Given the description of an element on the screen output the (x, y) to click on. 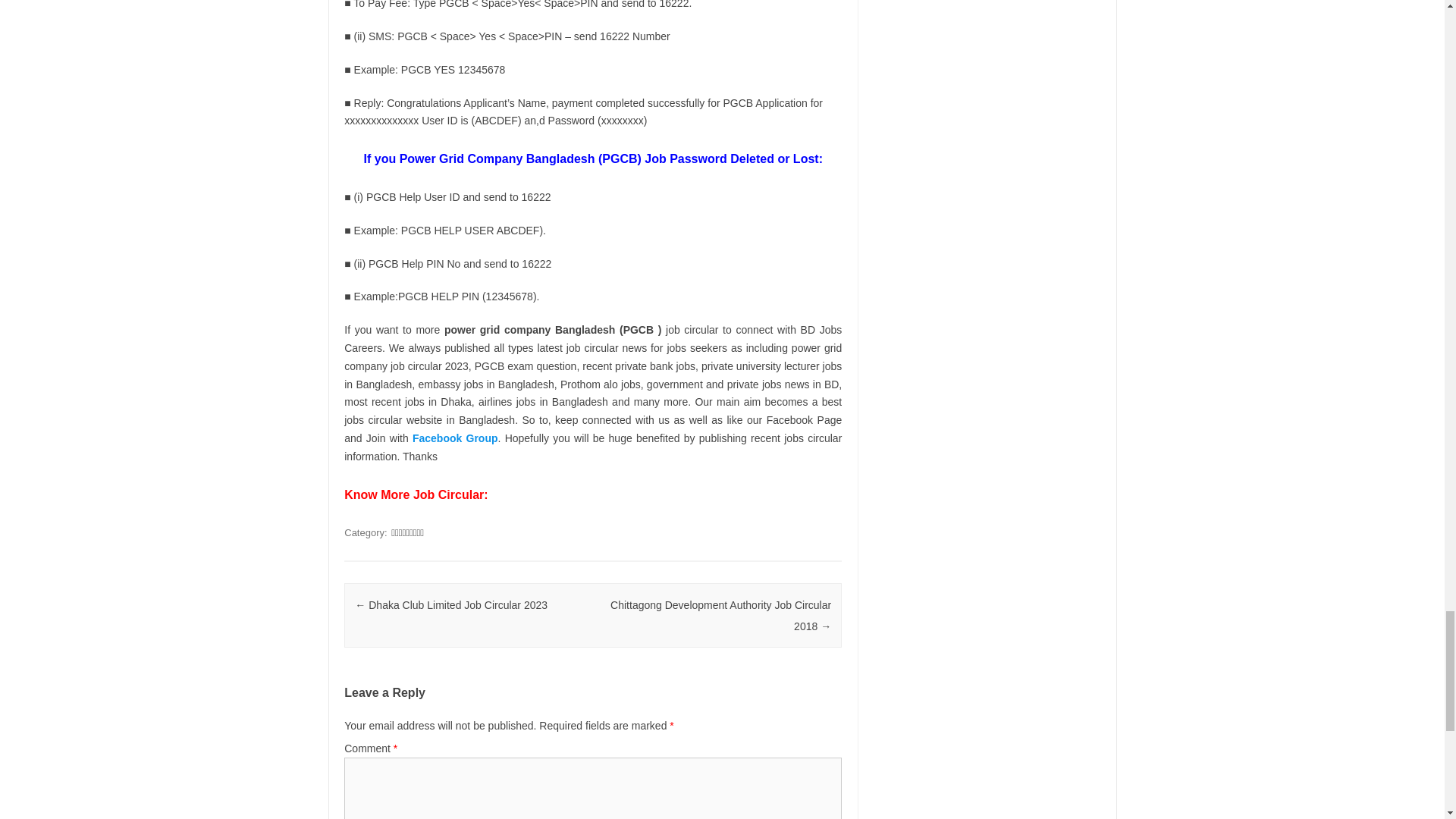
Facebook Group (454, 438)
